Given the description of an element on the screen output the (x, y) to click on. 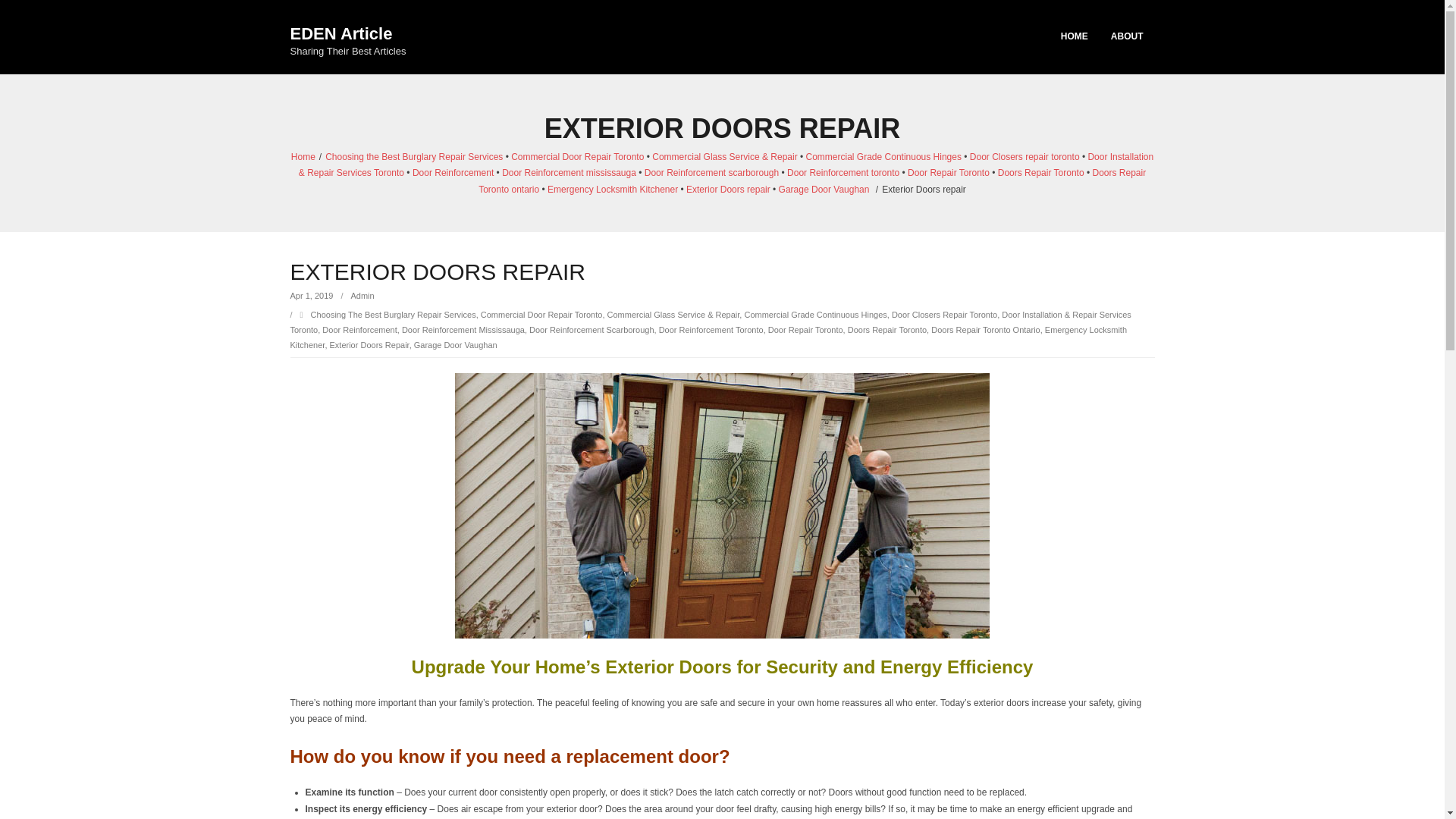
Commercial Grade Continuous Hinges (815, 314)
Doors Repair Toronto (1040, 172)
Door Repair Toronto (347, 35)
Choosing The Best Burglary Repair Services (805, 329)
Door Reinforcement (393, 314)
Door Reinforcement Scarborough (358, 329)
Admin (591, 329)
Emergency Locksmith Kitchener (362, 295)
Door Reinforcement (707, 337)
Door Reinforcement Toronto (452, 172)
Door Reinforcement Mississauga (710, 329)
Exterior Doors repair (462, 329)
Door Closers repair toronto (311, 295)
Door Reinforcement mississauga (1024, 156)
